Given the description of an element on the screen output the (x, y) to click on. 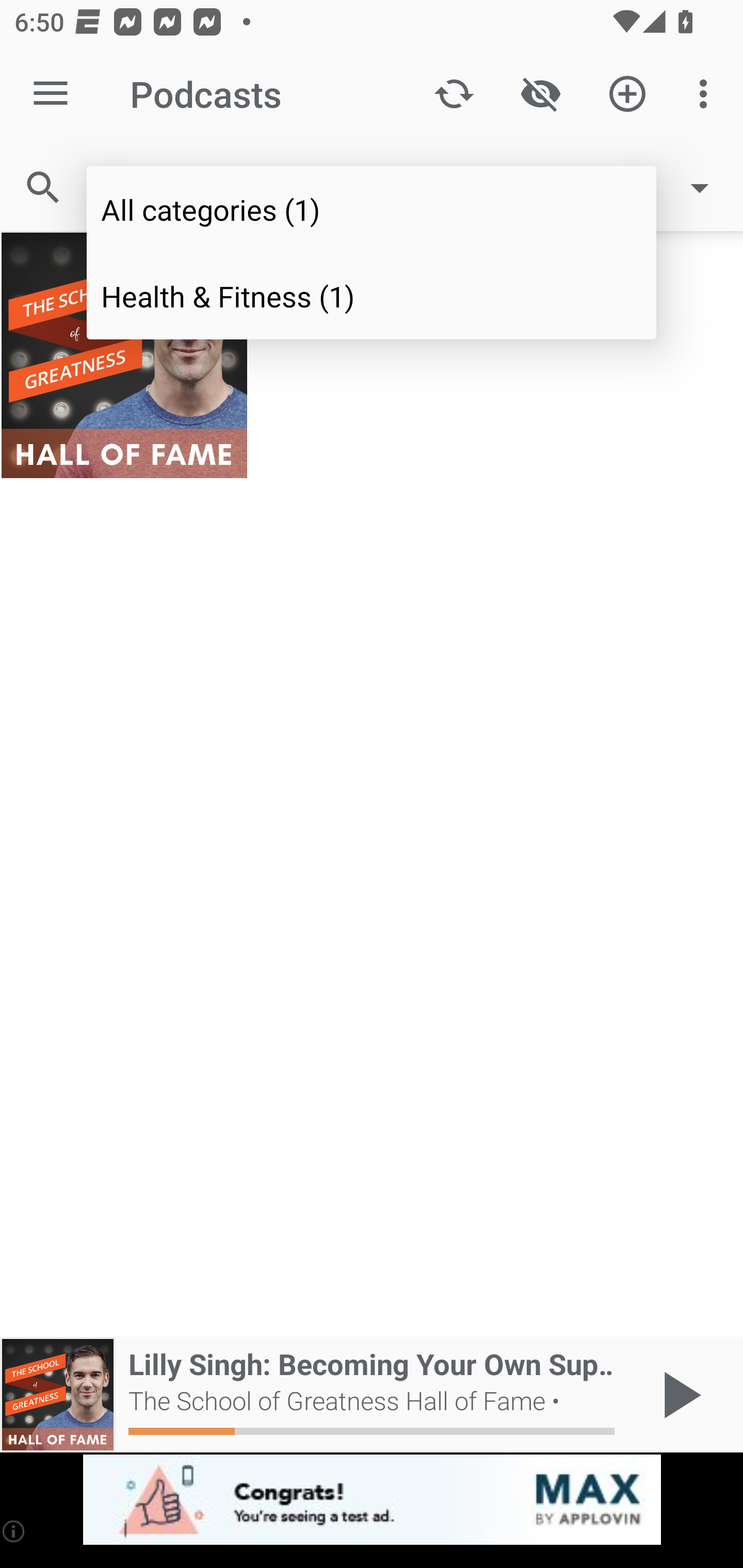
All categories (1) (371, 209)
Health & Fitness (1) (371, 295)
